Given the description of an element on the screen output the (x, y) to click on. 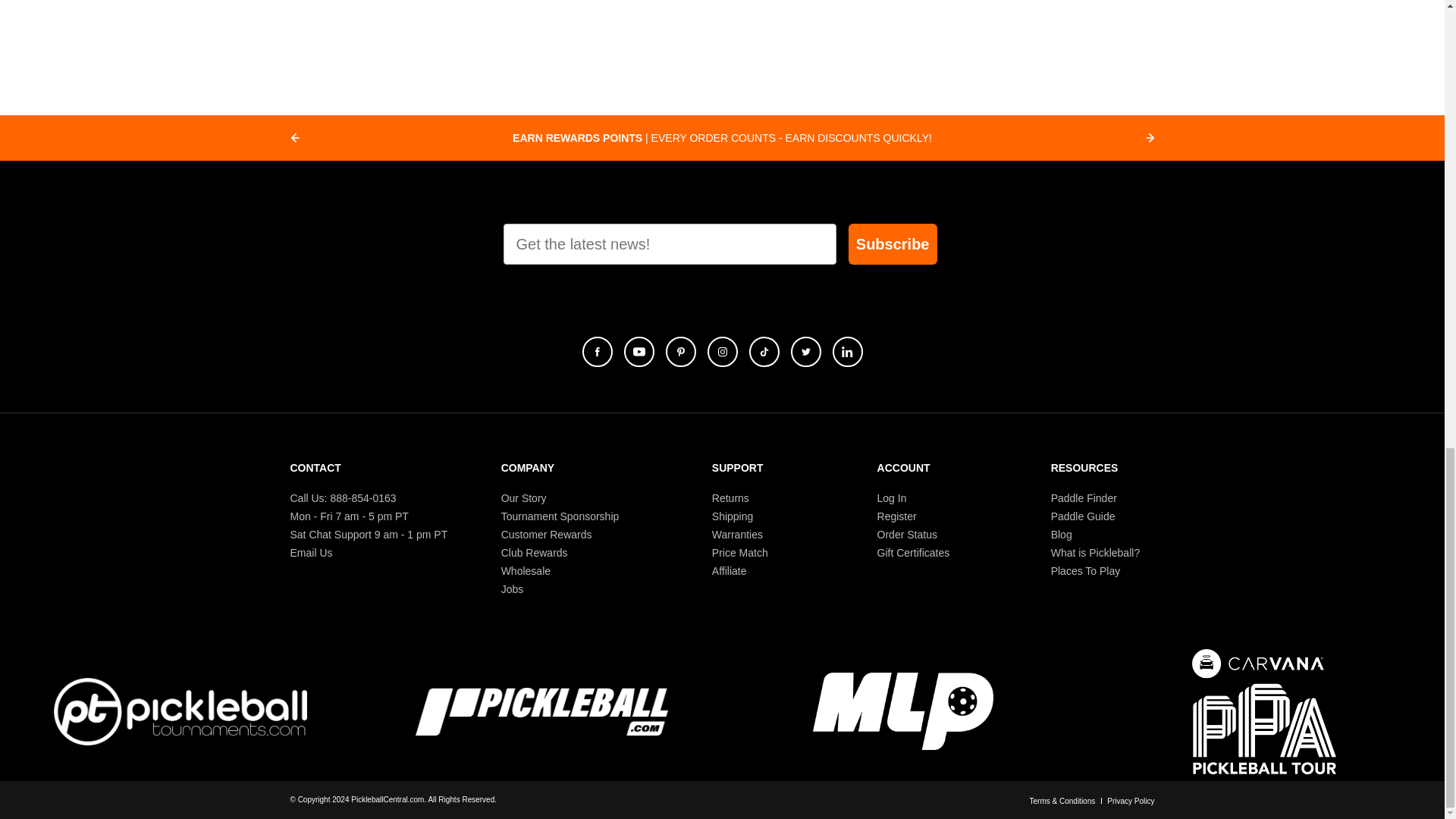
Youtube (638, 351)
Facebook (597, 351)
